Given the description of an element on the screen output the (x, y) to click on. 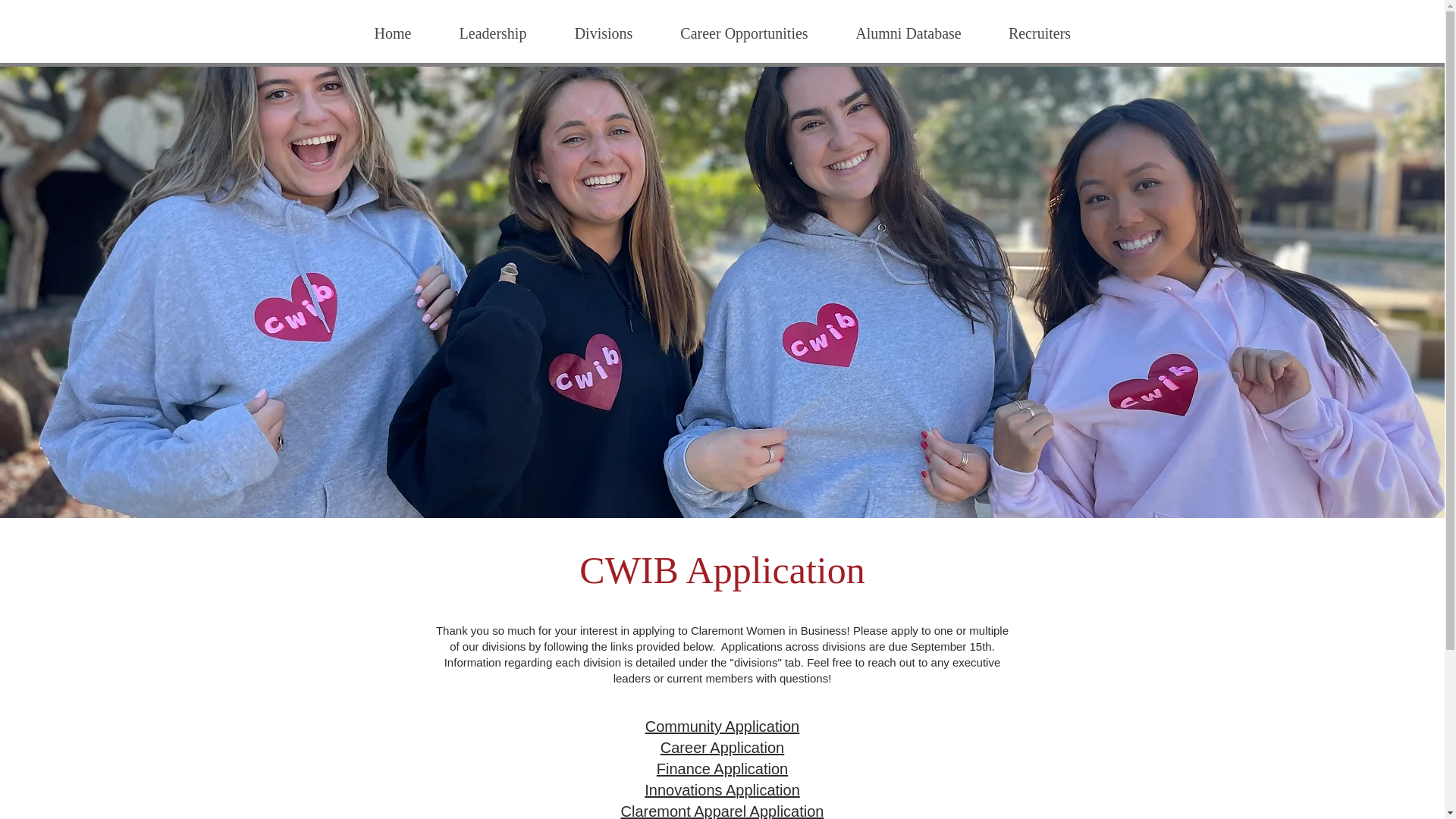
Career Application (722, 747)
Finance Application (721, 768)
Career Opportunities (743, 32)
Claremont Apparel Application (722, 811)
Community Application (722, 726)
Home (391, 32)
Innovations Application (722, 790)
Leadership (492, 32)
Recruiters (1038, 32)
Alumni Database (907, 32)
